Given the description of an element on the screen output the (x, y) to click on. 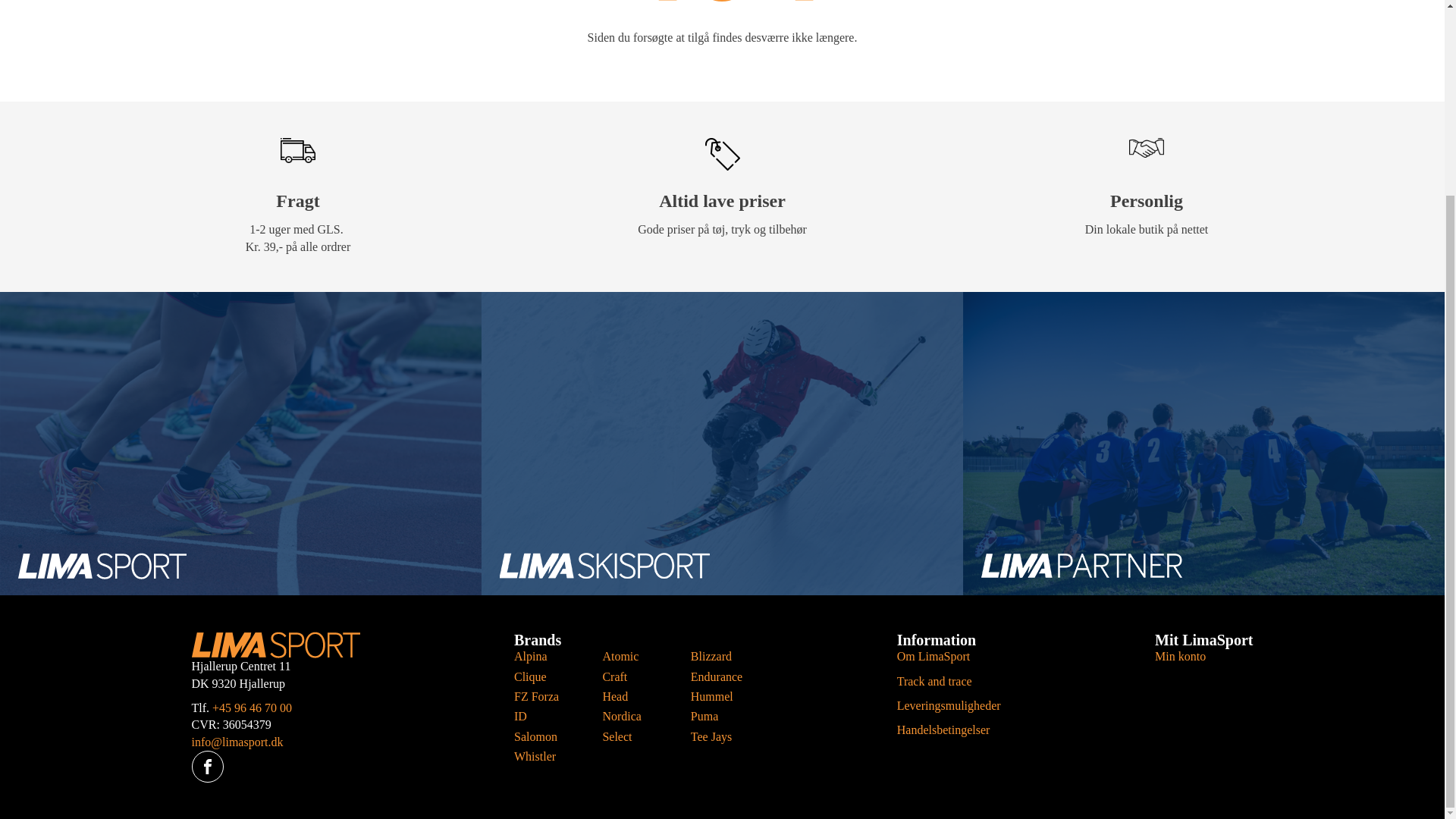
Om LimaSport (932, 656)
Atomic (627, 656)
Nordica (627, 716)
Puma (716, 716)
Hummel (716, 696)
Endurance (716, 677)
Handelsbetingelser (943, 729)
Select (627, 736)
Blizzard (716, 656)
Tee Jays (716, 736)
